Given the description of an element on the screen output the (x, y) to click on. 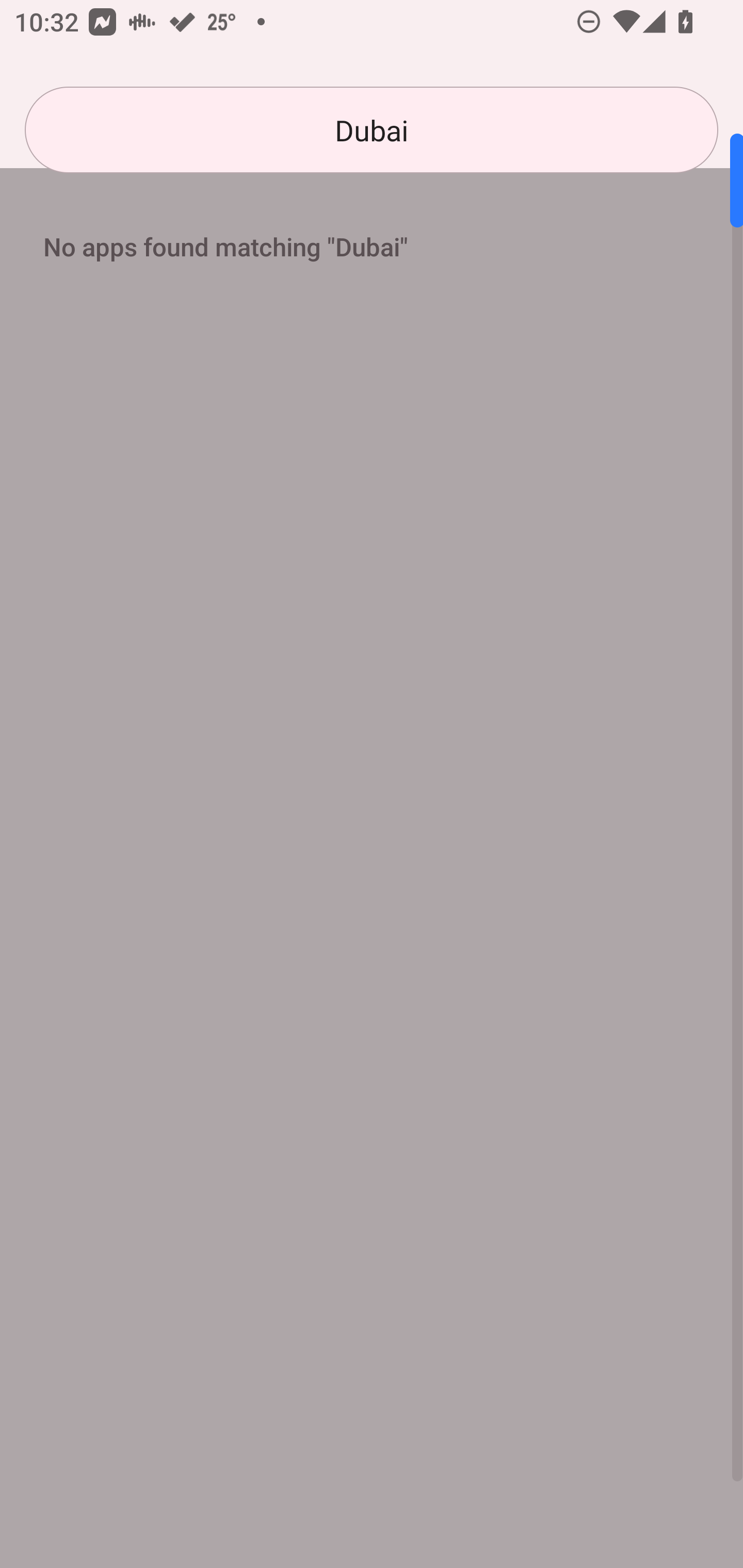
Dubai (371, 130)
